Given the description of an element on the screen output the (x, y) to click on. 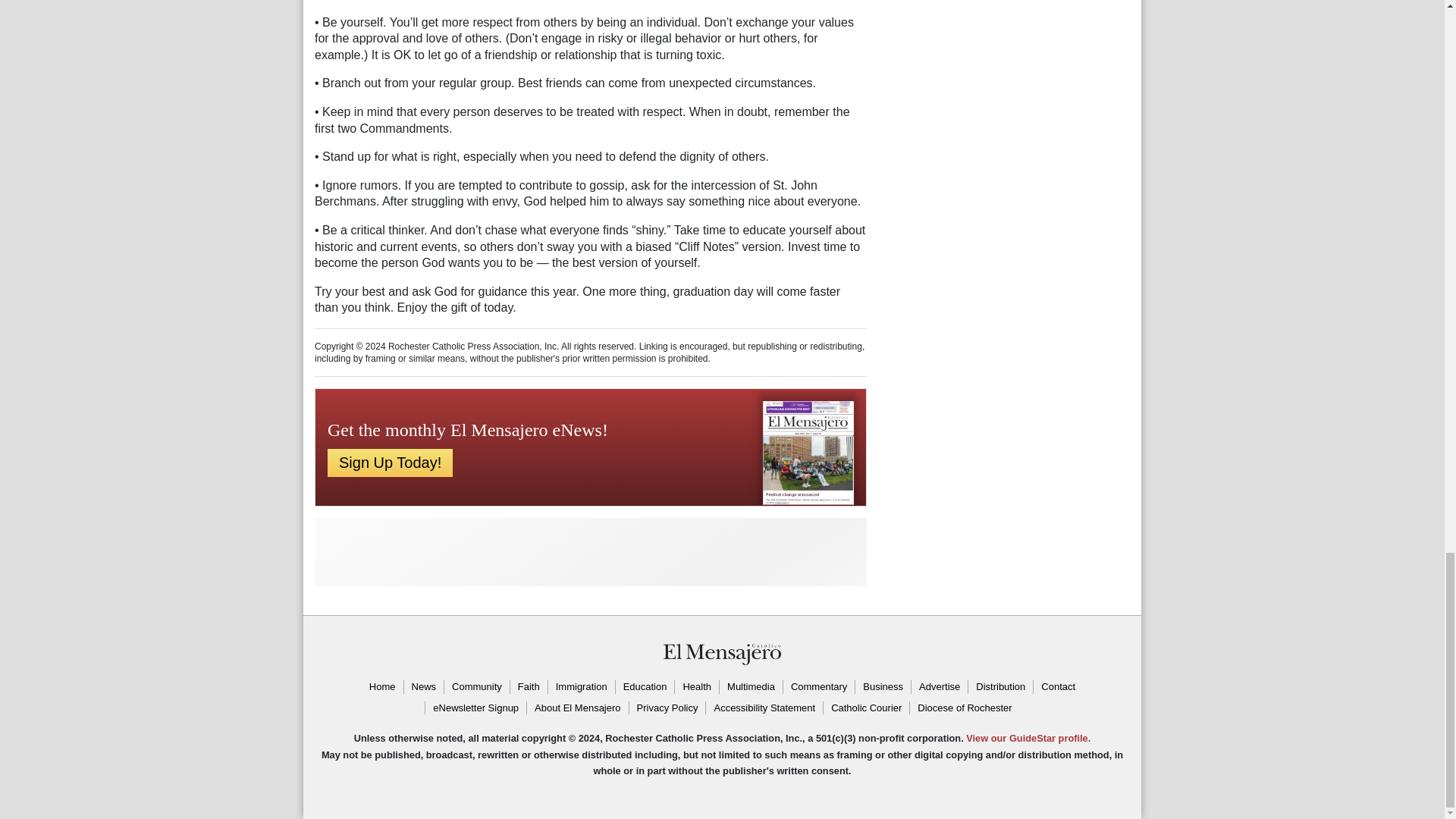
Health (696, 686)
Contact (1057, 686)
About El Mensajero (576, 707)
Education (644, 686)
Advertise (939, 686)
Immigration (580, 686)
Distribution (1000, 686)
eNewsletter Signup (475, 707)
Community (476, 686)
Business (882, 686)
